Given the description of an element on the screen output the (x, y) to click on. 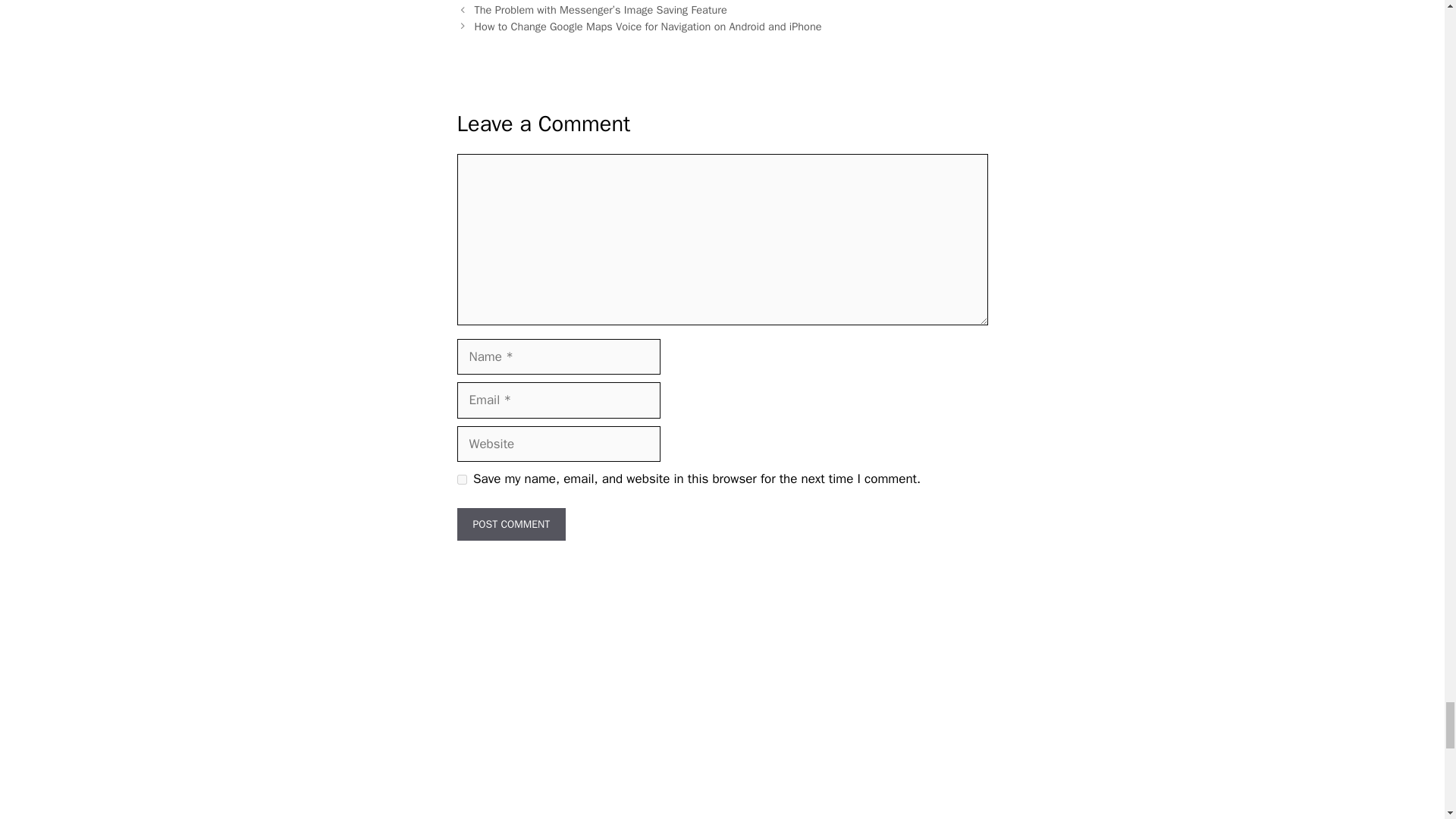
yes (461, 479)
Post Comment (511, 523)
